Given the description of an element on the screen output the (x, y) to click on. 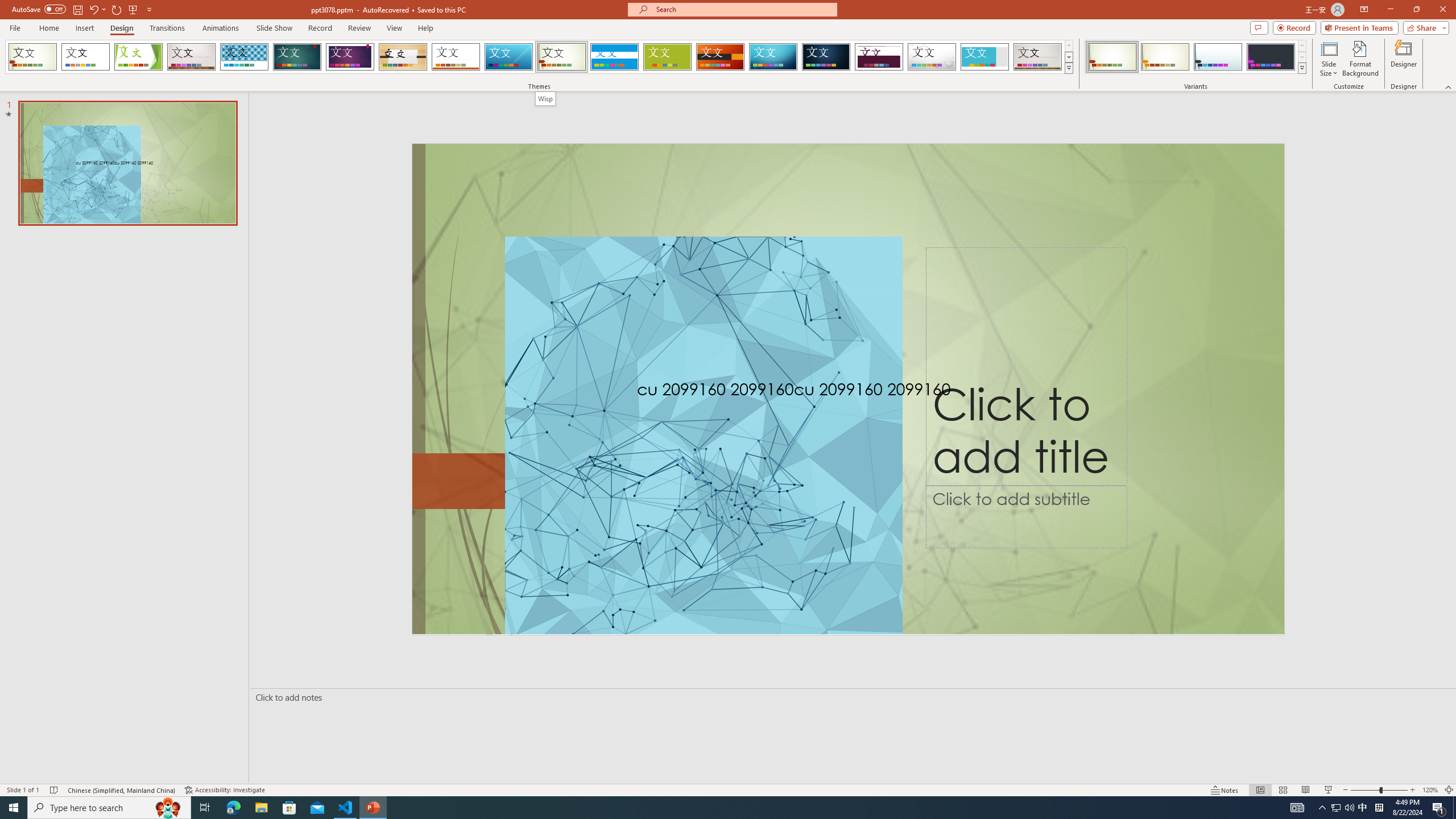
Circuit Loading Preview... (772, 56)
Close (1442, 9)
Wisp Variant 2 (1164, 56)
Reading View (1305, 790)
Normal (1260, 790)
Gallery Loading Preview... (1037, 56)
Wisp Loading Preview... (561, 56)
Wisp Variant 1 (1112, 56)
AutoSave (38, 9)
Variants (1301, 67)
Redo (117, 9)
Berlin Loading Preview... (720, 56)
